Given the description of an element on the screen output the (x, y) to click on. 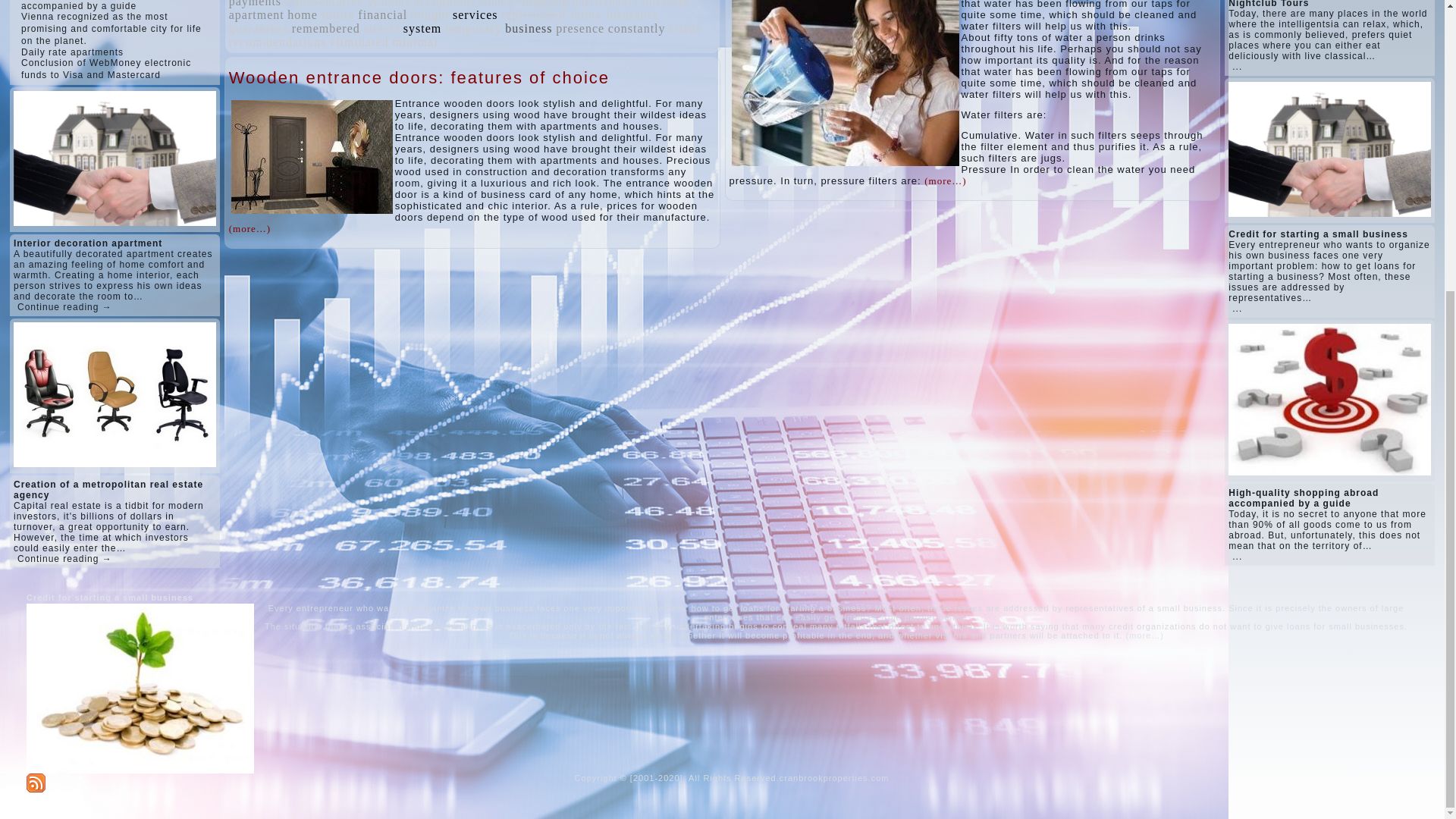
High-quality shopping abroad accompanied by a guide (90, 5)
Daily rate apartments (72, 51)
